Given the description of an element on the screen output the (x, y) to click on. 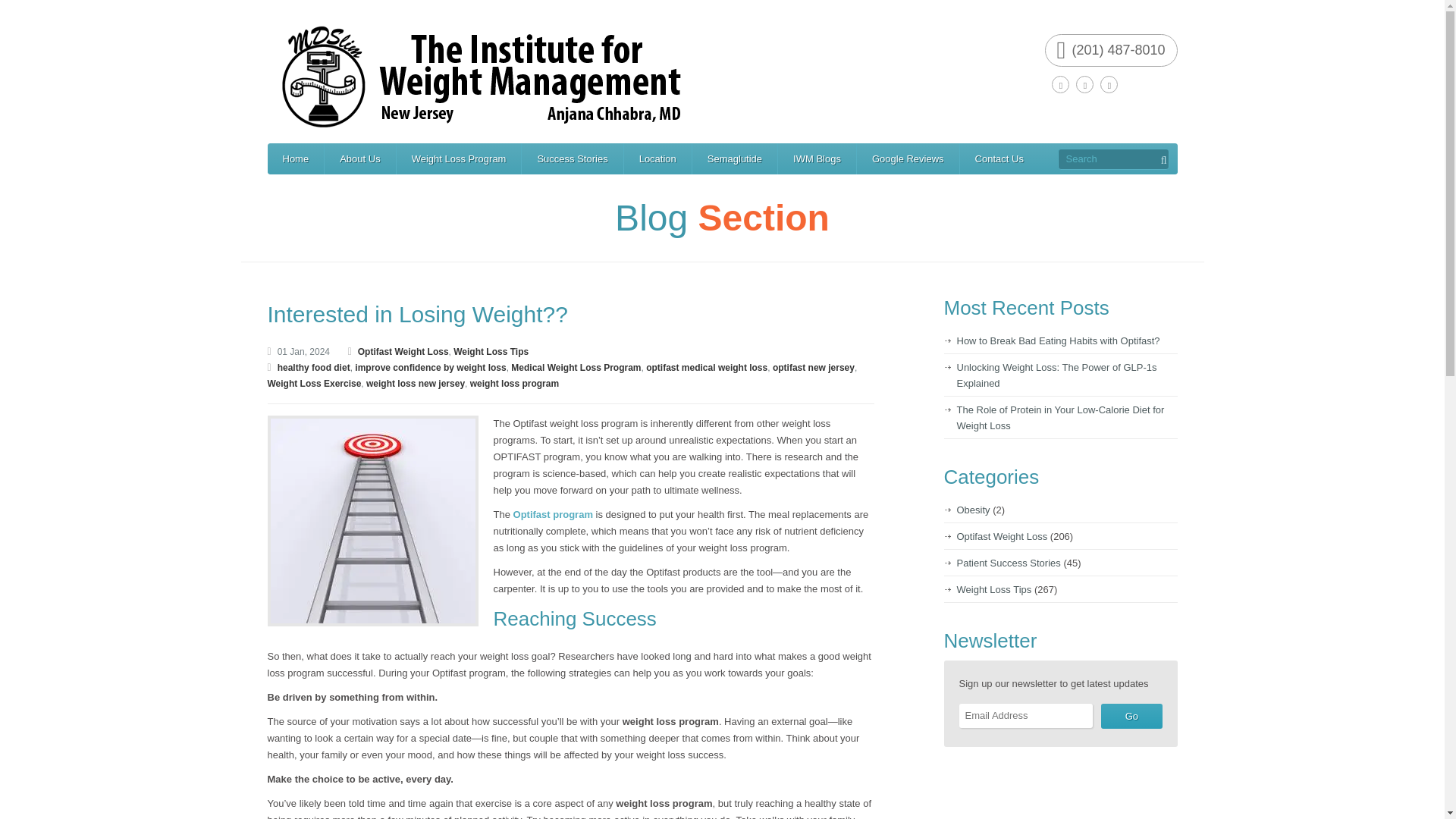
About Us (359, 158)
Contact Us (999, 158)
Weight Loss Tips (490, 351)
weight loss program (514, 383)
weight loss new jersey (415, 383)
Weight Loss Exercise (313, 383)
optifast medical weight loss (706, 367)
IWM Blogs (816, 158)
Google Reviews (908, 158)
Institute for Weight Management (727, 75)
